Given the description of an element on the screen output the (x, y) to click on. 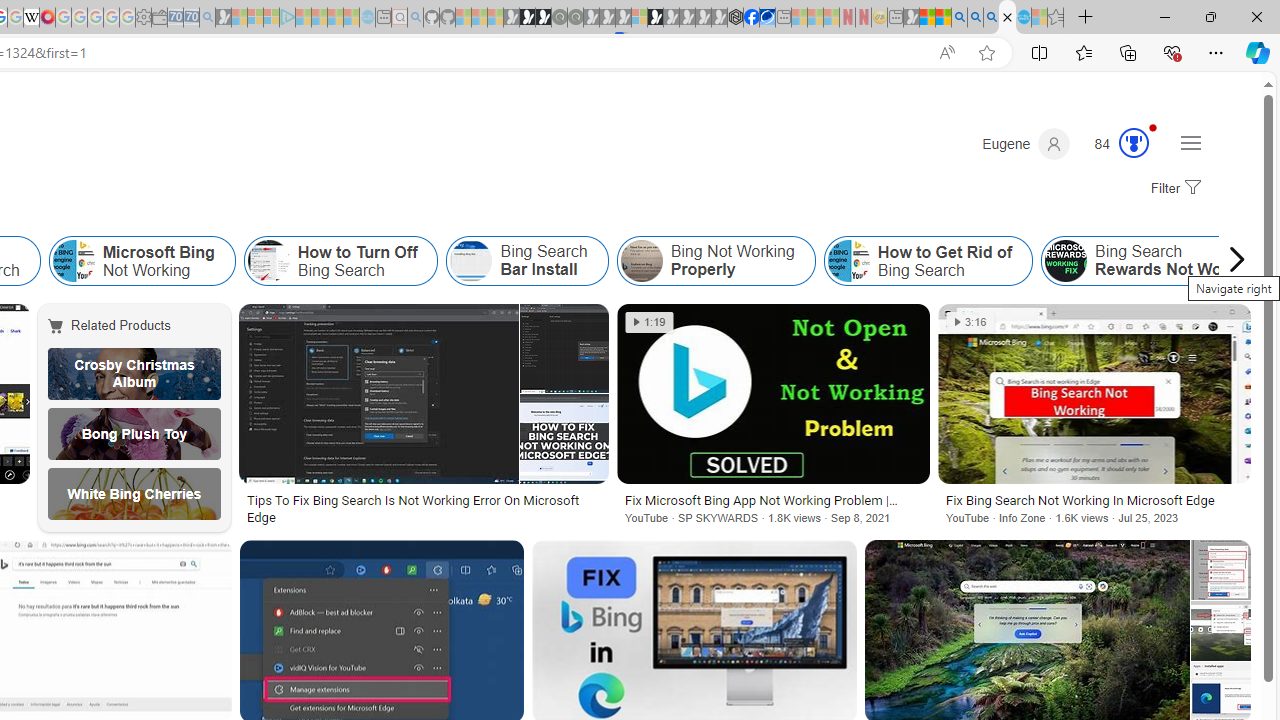
Bing Bong Plush Toy (134, 434)
Bong Plush Toy (134, 434)
Settings and quick links (1190, 142)
Filter (1173, 189)
Bing Not Working Properly (715, 260)
Bing Crosby Christmas Album (134, 373)
